Given the description of an element on the screen output the (x, y) to click on. 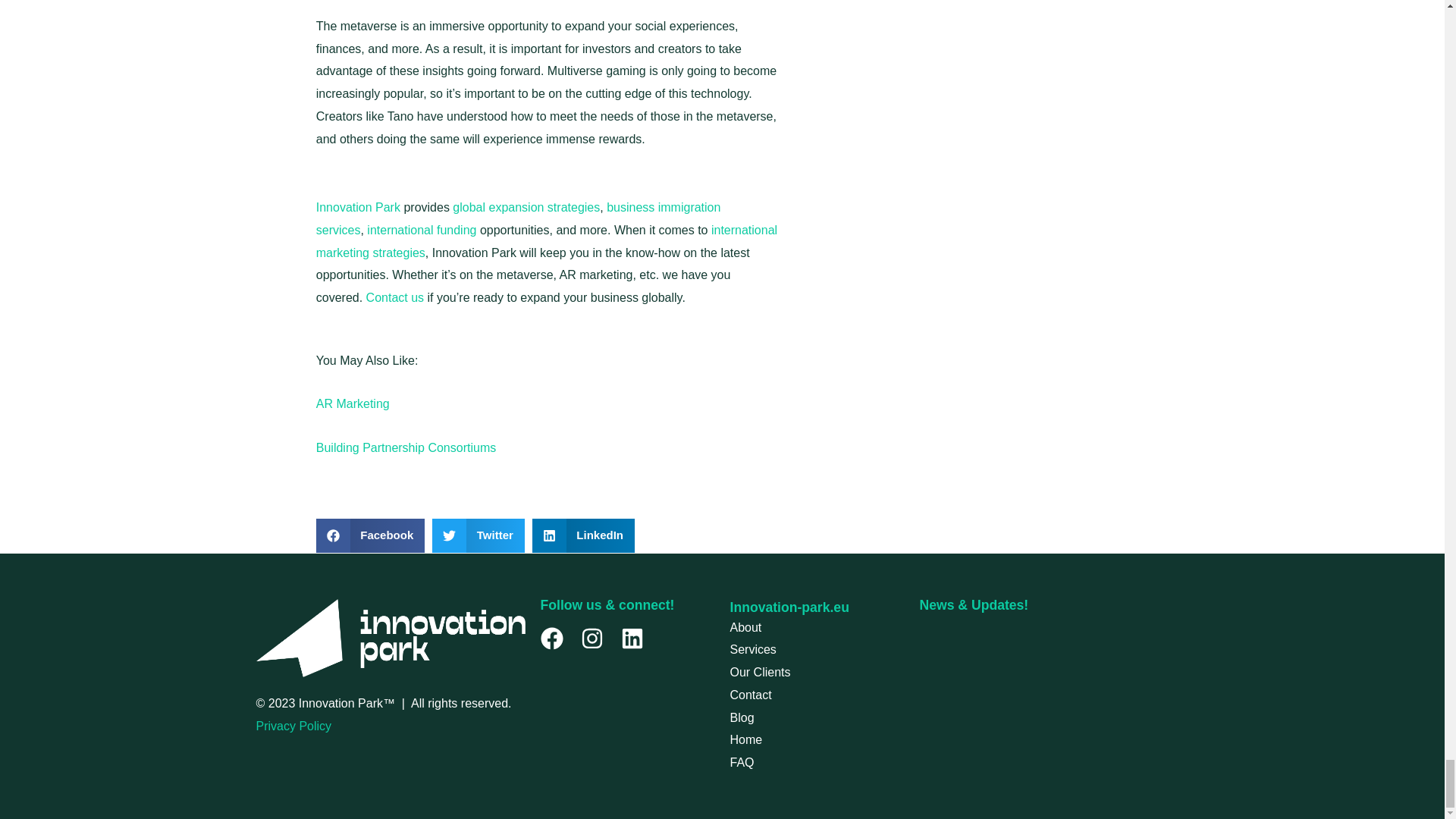
business immigration services (517, 218)
AR Marketing (352, 403)
international marketing strategies (546, 241)
global expansion strategies (525, 206)
Contact us (394, 297)
Building Partnership Consortiums (405, 447)
Innovation Park (357, 206)
international funding (421, 229)
